Given the description of an element on the screen output the (x, y) to click on. 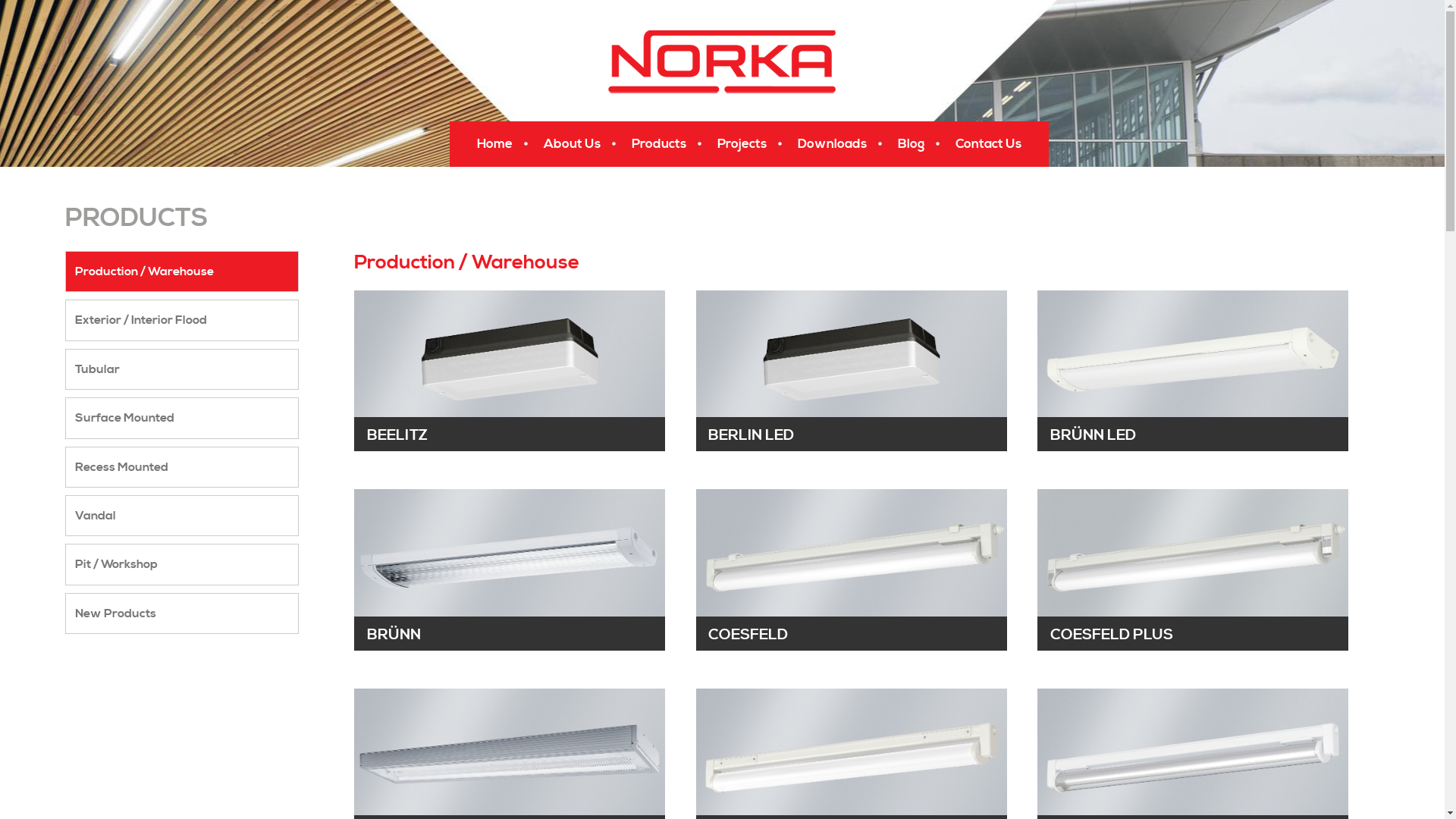
Projects Element type: text (744, 144)
Recess Mounted Element type: text (181, 466)
Vandal Element type: text (181, 515)
Home Element type: text (496, 144)
About Us Element type: text (573, 144)
Blog Element type: text (913, 144)
New Products Element type: text (181, 613)
Pit / Workshop Element type: text (181, 563)
Contact Us Element type: text (990, 144)
Surface Mounted Element type: text (181, 417)
Exterior / Interior Flood Element type: text (181, 319)
Tubular Element type: text (181, 368)
Products Element type: text (660, 144)
Production / Warehouse Element type: text (181, 271)
Downloads Element type: text (834, 144)
